Given the description of an element on the screen output the (x, y) to click on. 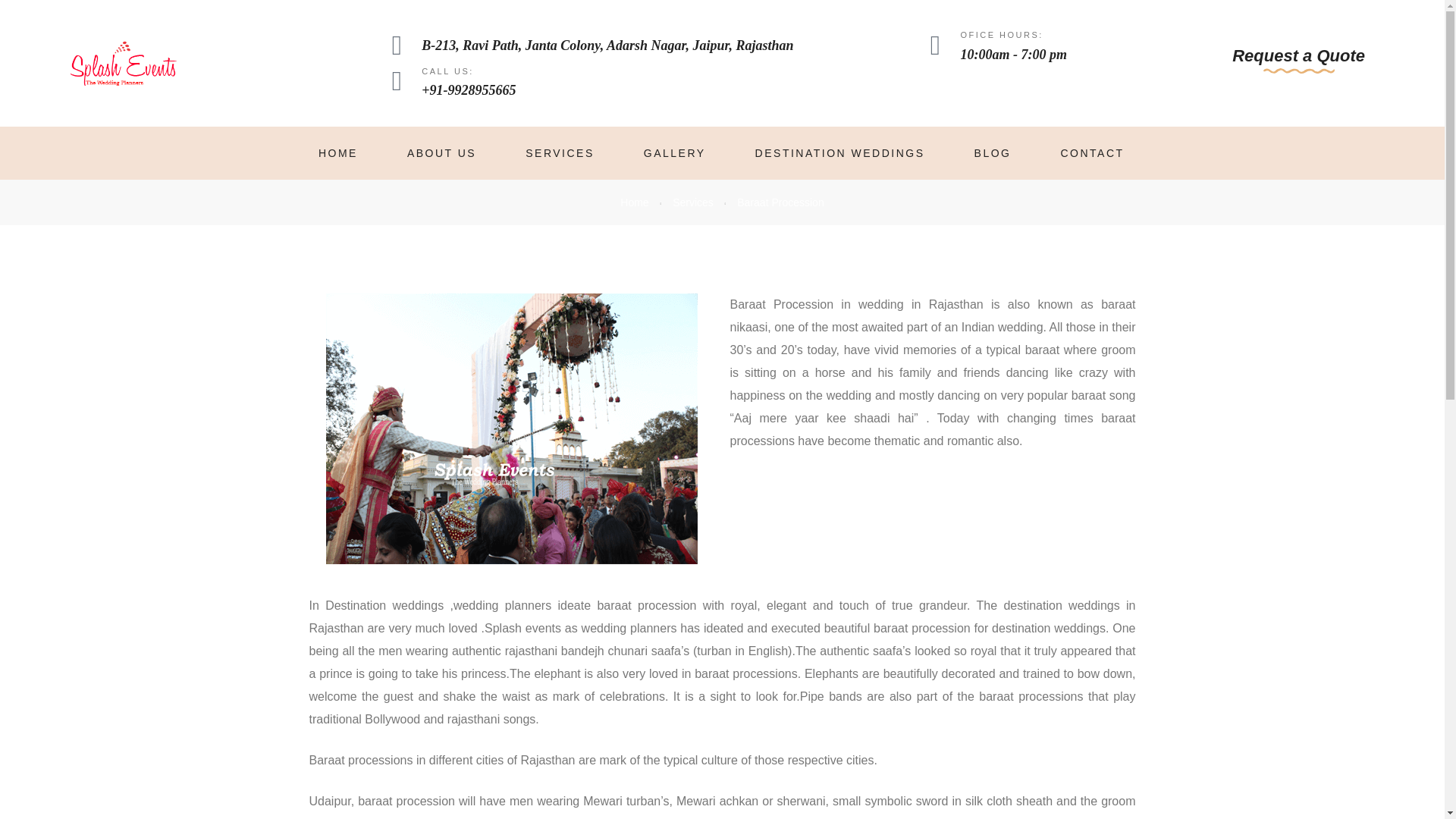
Go to Services. (692, 202)
Services (692, 202)
Go to Destination wedding planners in Rajasthan. (633, 202)
GALLERY (674, 152)
Request a Quote (1298, 60)
CONTACT (1091, 152)
SERVICES (559, 152)
Home (633, 202)
DESTINATION WEDDINGS (839, 152)
ABOUT US (441, 152)
